Given the description of an element on the screen output the (x, y) to click on. 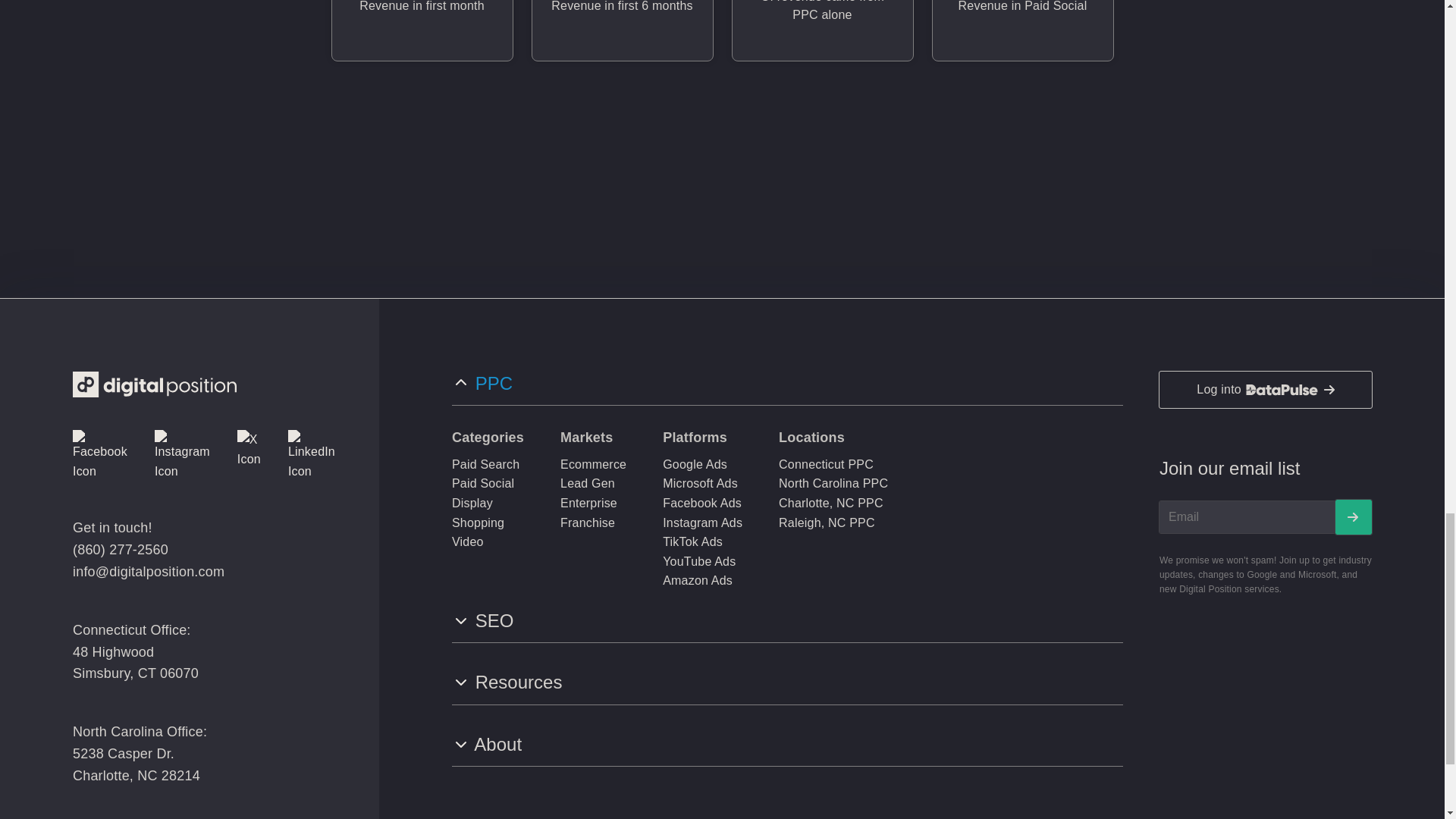
Digital Position Logo (153, 384)
